Given the description of an element on the screen output the (x, y) to click on. 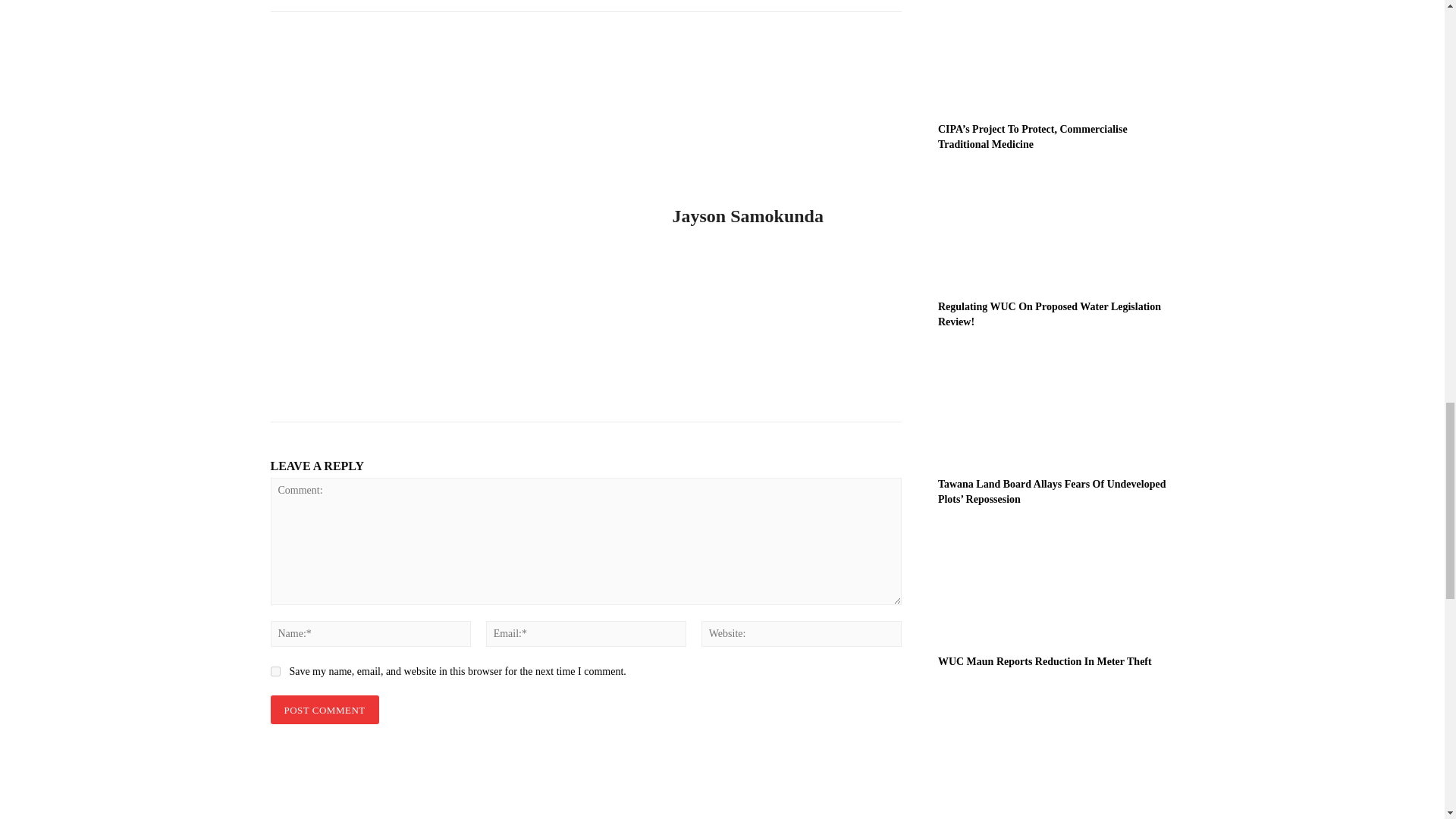
Post Comment (323, 709)
Regulating WUC On Proposed Water Legislation Review! (1055, 230)
WUC Maun Reports Reduction In Meter Theft (1055, 585)
Post Comment (323, 709)
Regulating WUC On Proposed Water Legislation Review! (1048, 314)
Regulating WUC On Proposed Water Legislation Review! (1048, 314)
Jayson Samokunda (746, 216)
yes (274, 671)
